Given the description of an element on the screen output the (x, y) to click on. 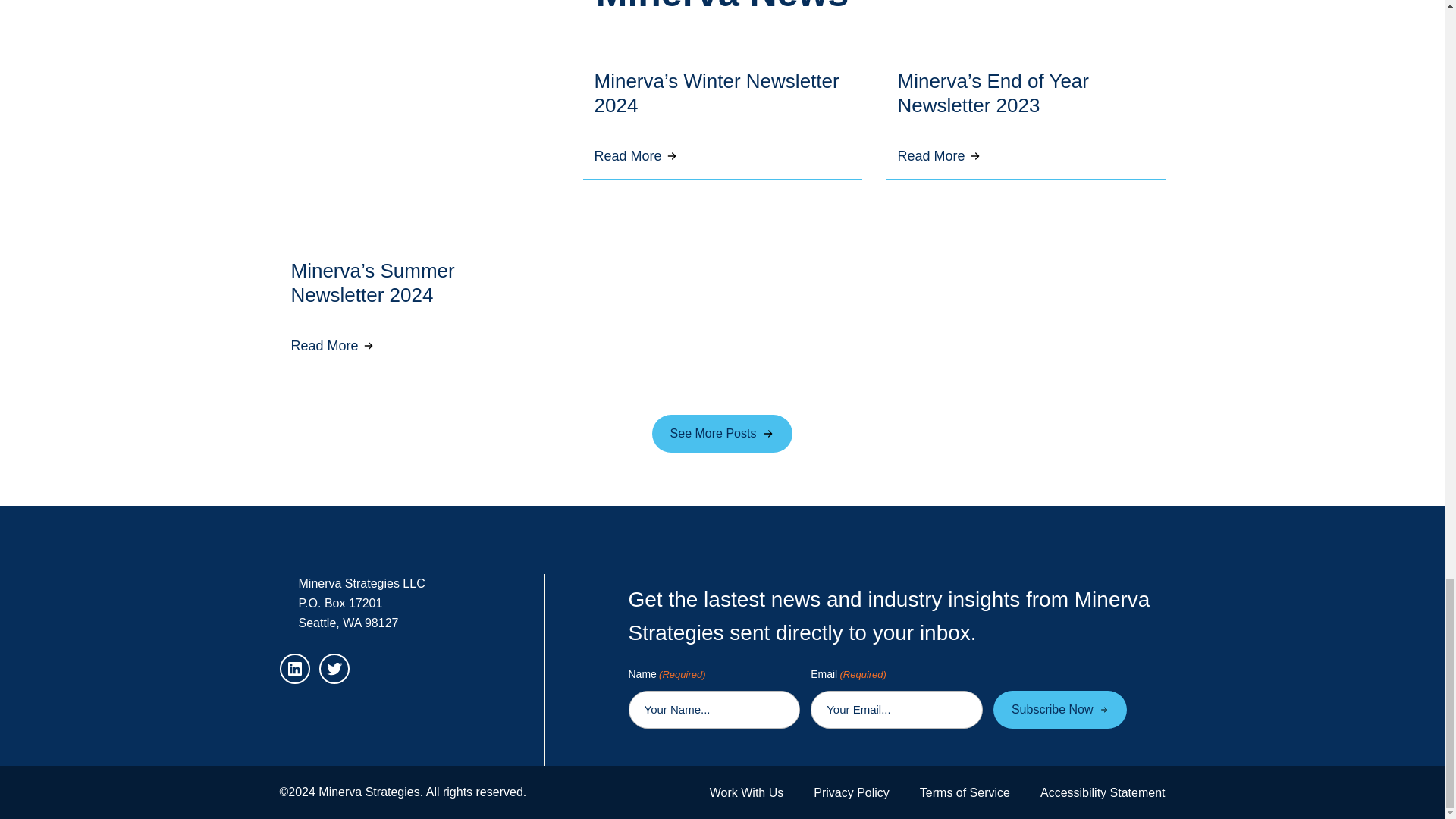
Go to Minerva's Linkedin page (294, 668)
Accessibility Statement (1103, 792)
Work With Us (746, 792)
Privacy Policy (851, 792)
Go to Minerva's Twitter page (333, 668)
See More Posts (722, 433)
Terms of Service (965, 792)
Subscribe Now (1059, 709)
